Given the description of an element on the screen output the (x, y) to click on. 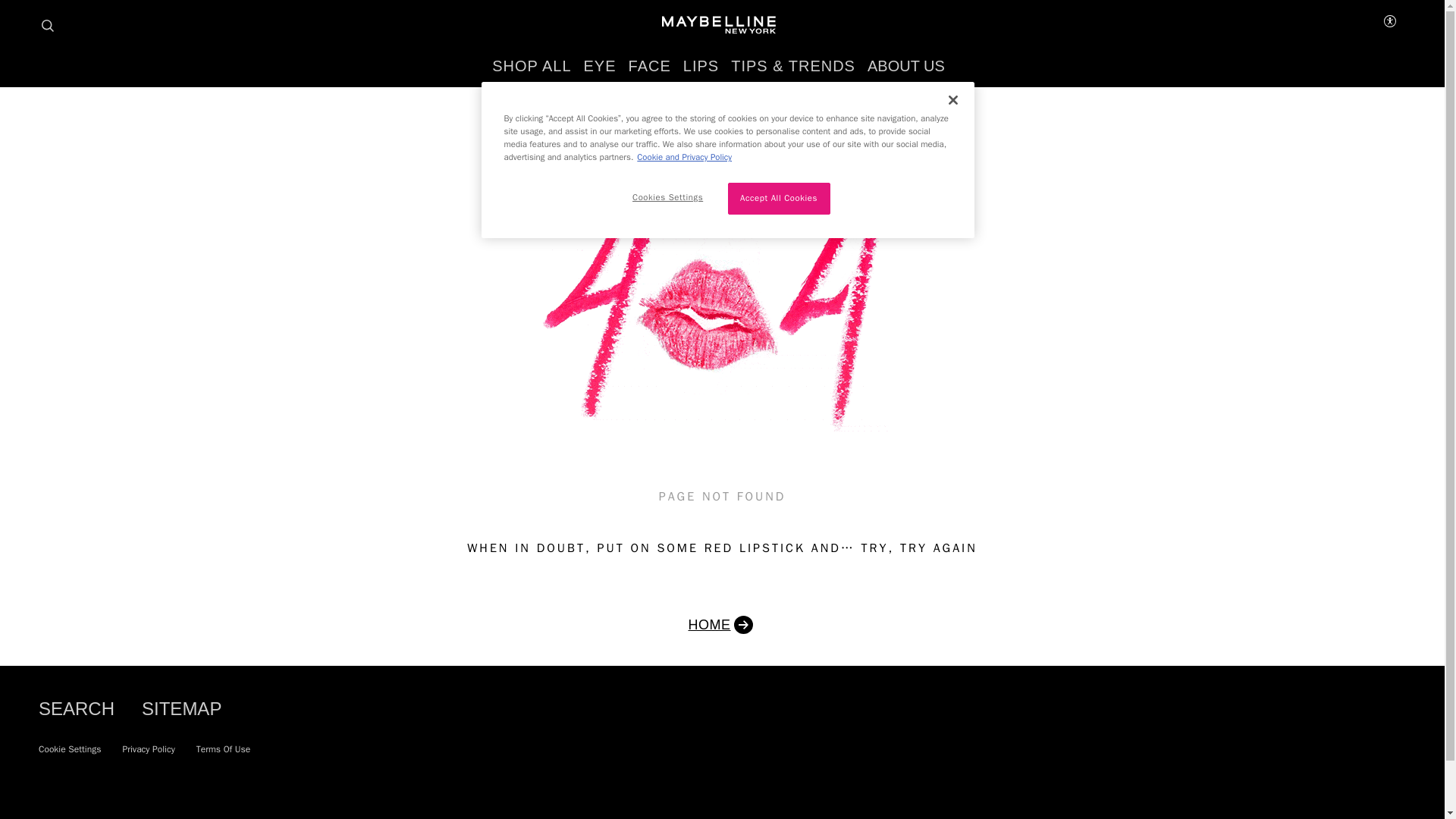
EYE (599, 66)
FACE (649, 66)
SHOP ALL (531, 66)
LIPS (700, 66)
